Given the description of an element on the screen output the (x, y) to click on. 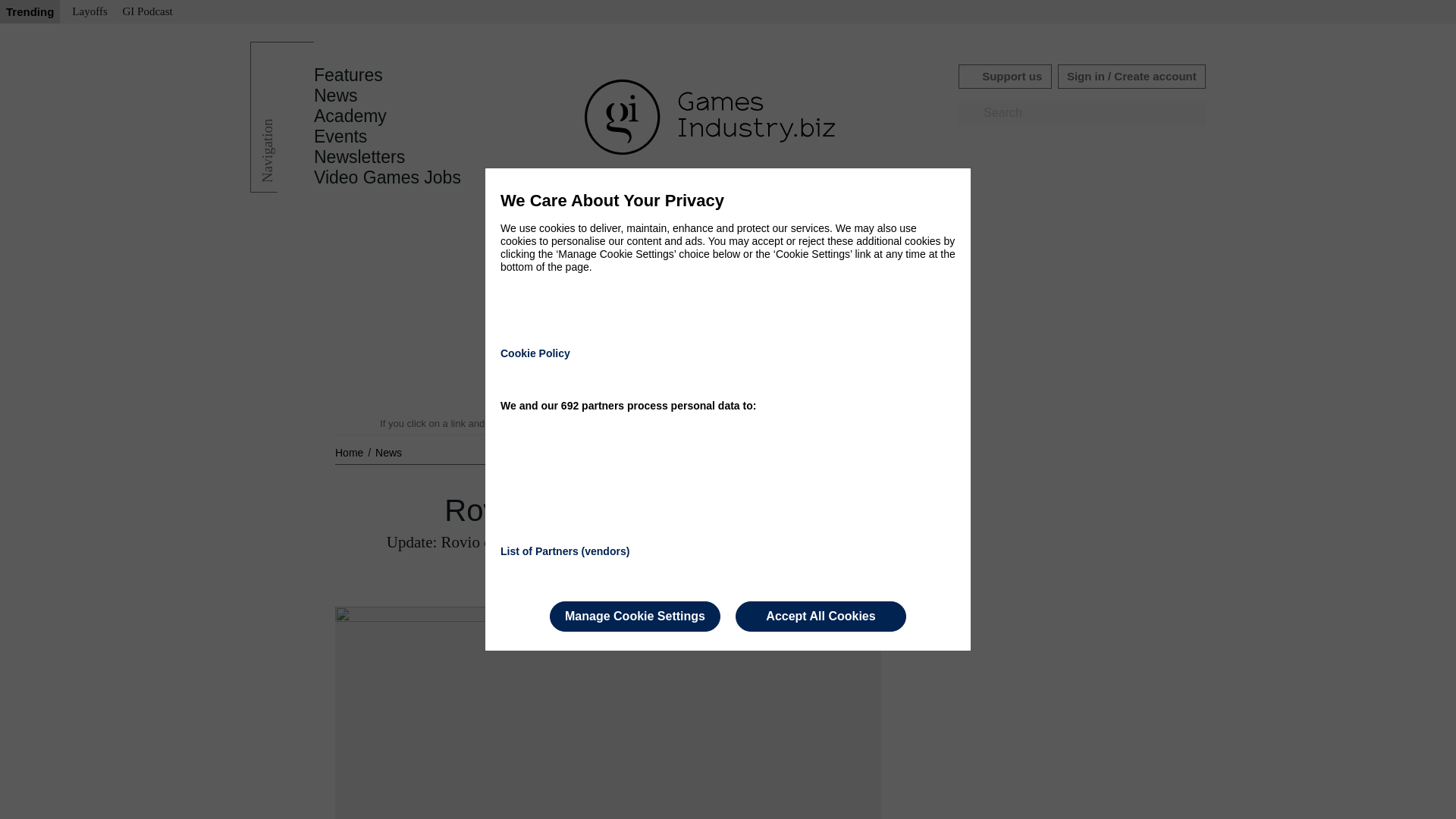
Layoffs (89, 11)
GI Podcast (146, 11)
Read our editorial policy (781, 423)
Newsletters (359, 157)
Layoffs (89, 11)
News (388, 452)
Features (348, 75)
Home (350, 452)
GI Podcast (146, 11)
Newsletters (359, 157)
